Given the description of an element on the screen output the (x, y) to click on. 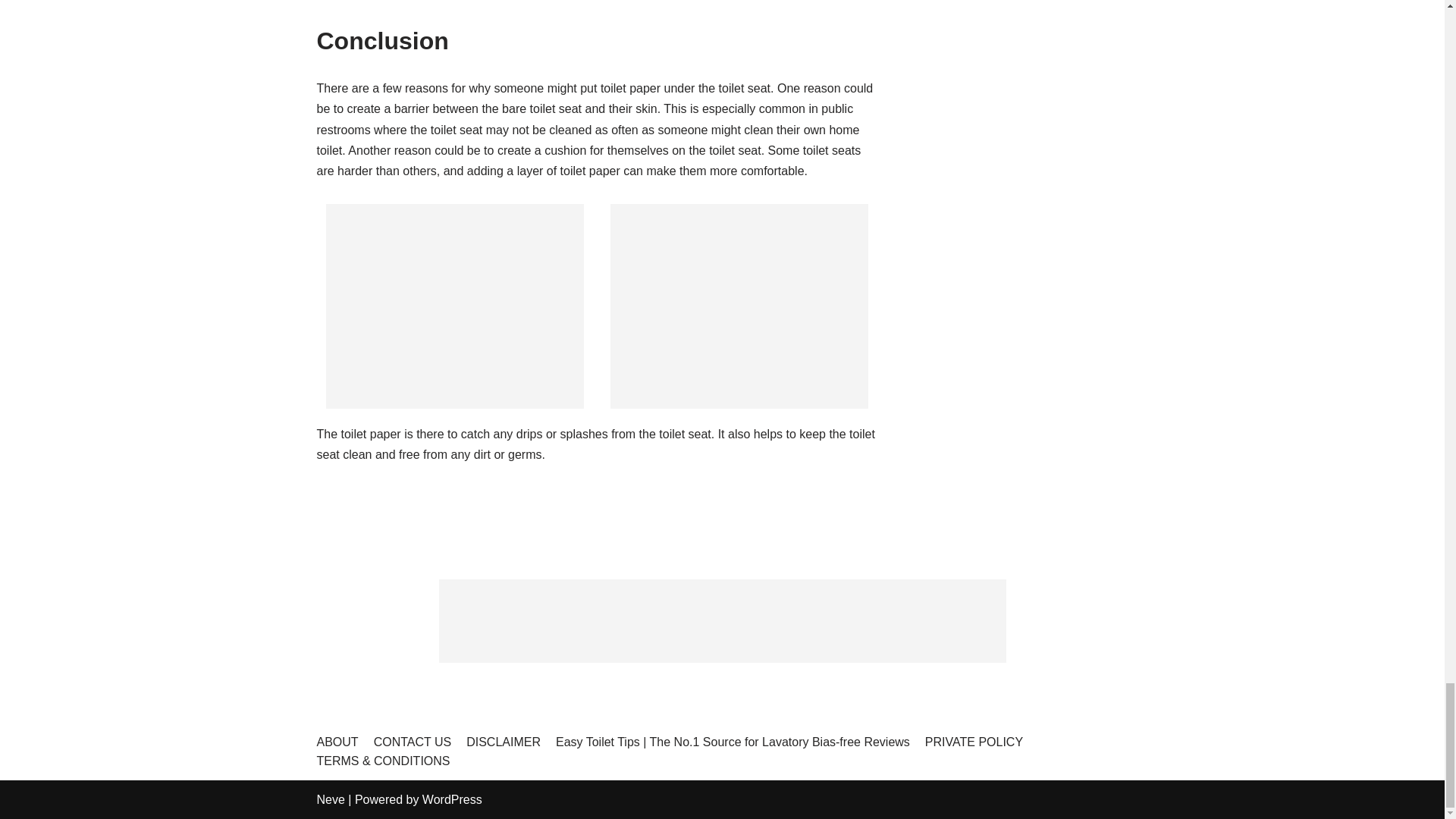
ABOUT (337, 742)
CONTACT US (412, 742)
DISCLAIMER (502, 742)
